Given the description of an element on the screen output the (x, y) to click on. 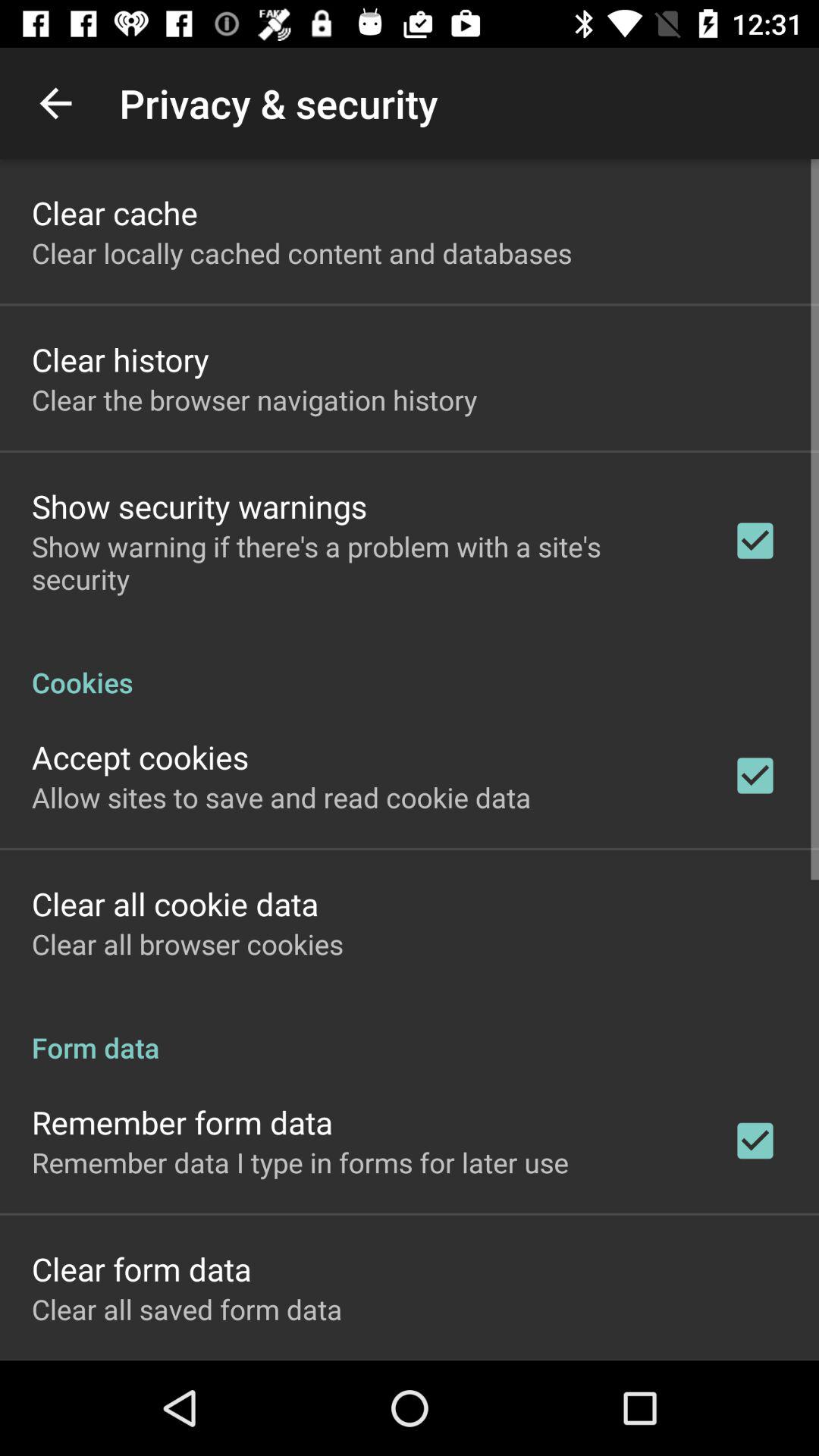
launch icon below the accept cookies (281, 797)
